Given the description of an element on the screen output the (x, y) to click on. 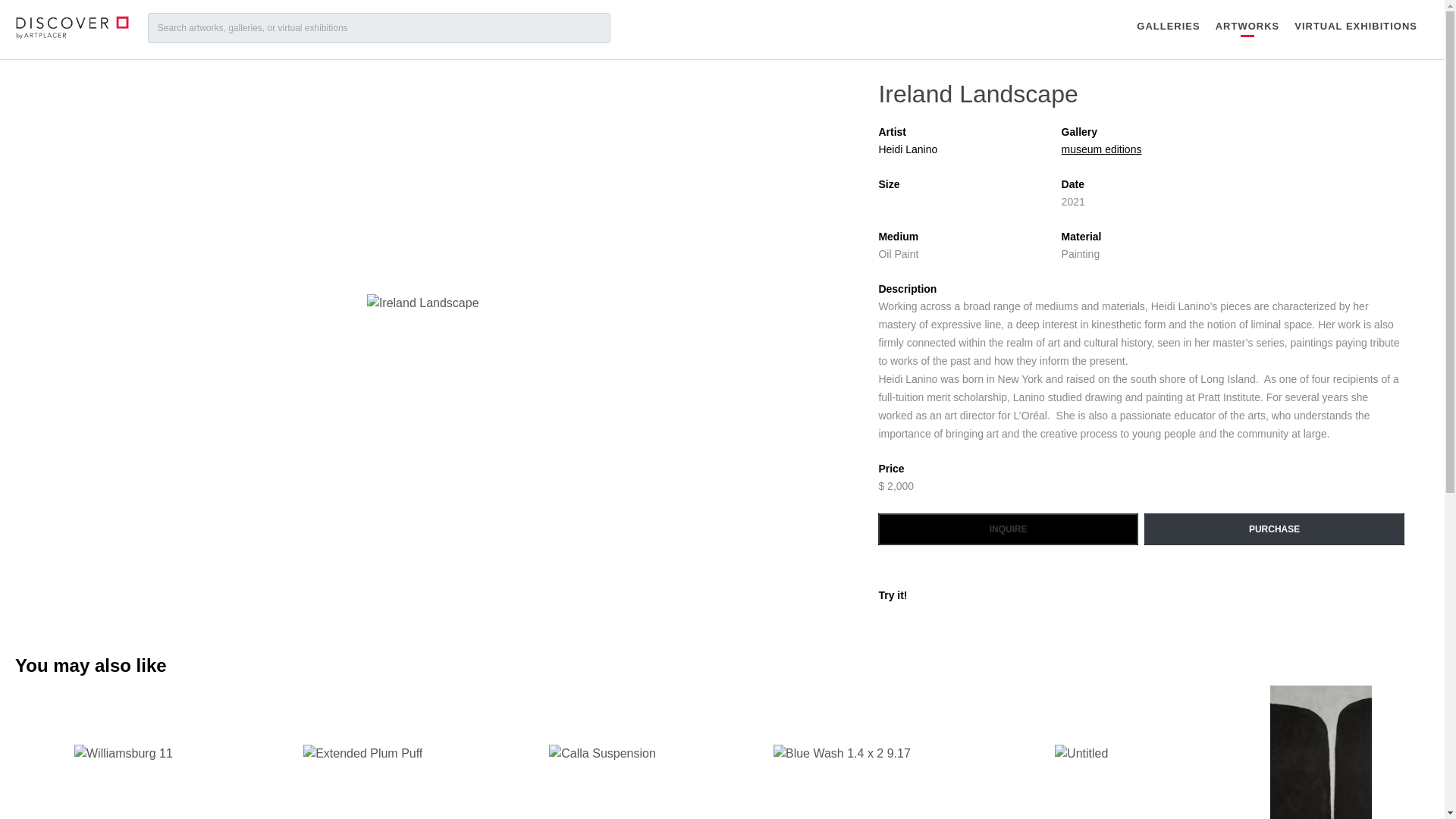
ARTWORKS (841, 752)
INQUIRE (603, 752)
museum editions (122, 752)
VIRTUAL EXHIBITIONS (362, 752)
GALLERIES (1080, 752)
